Given the description of an element on the screen output the (x, y) to click on. 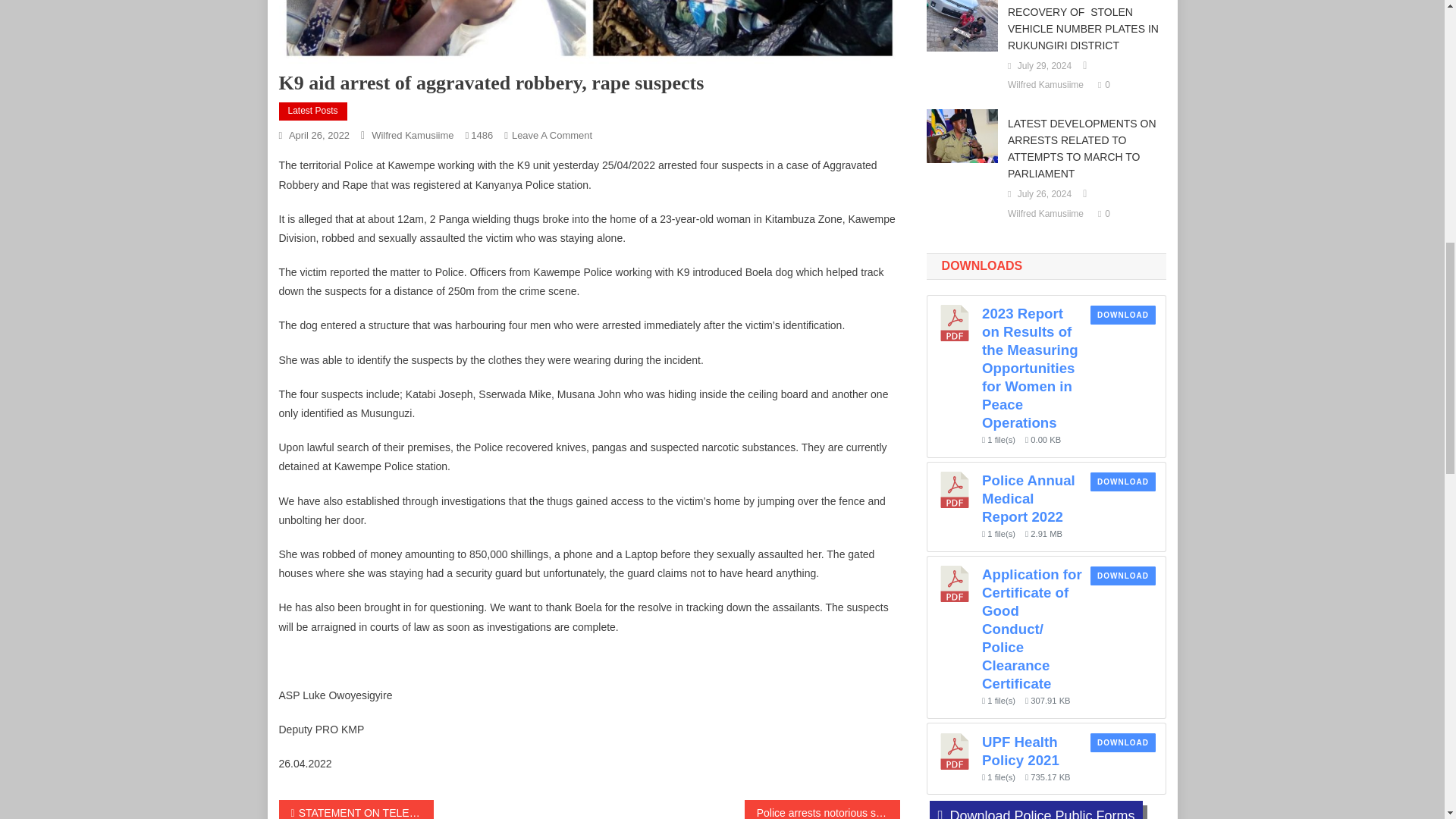
April 26, 2022 (318, 134)
Wilfred Kamusiime (411, 134)
Police arrests notorious suspect (821, 809)
STATEMENT ON TELECOMMUNICATIONS FRAUD (356, 809)
Latest Posts (313, 111)
